Given the description of an element on the screen output the (x, y) to click on. 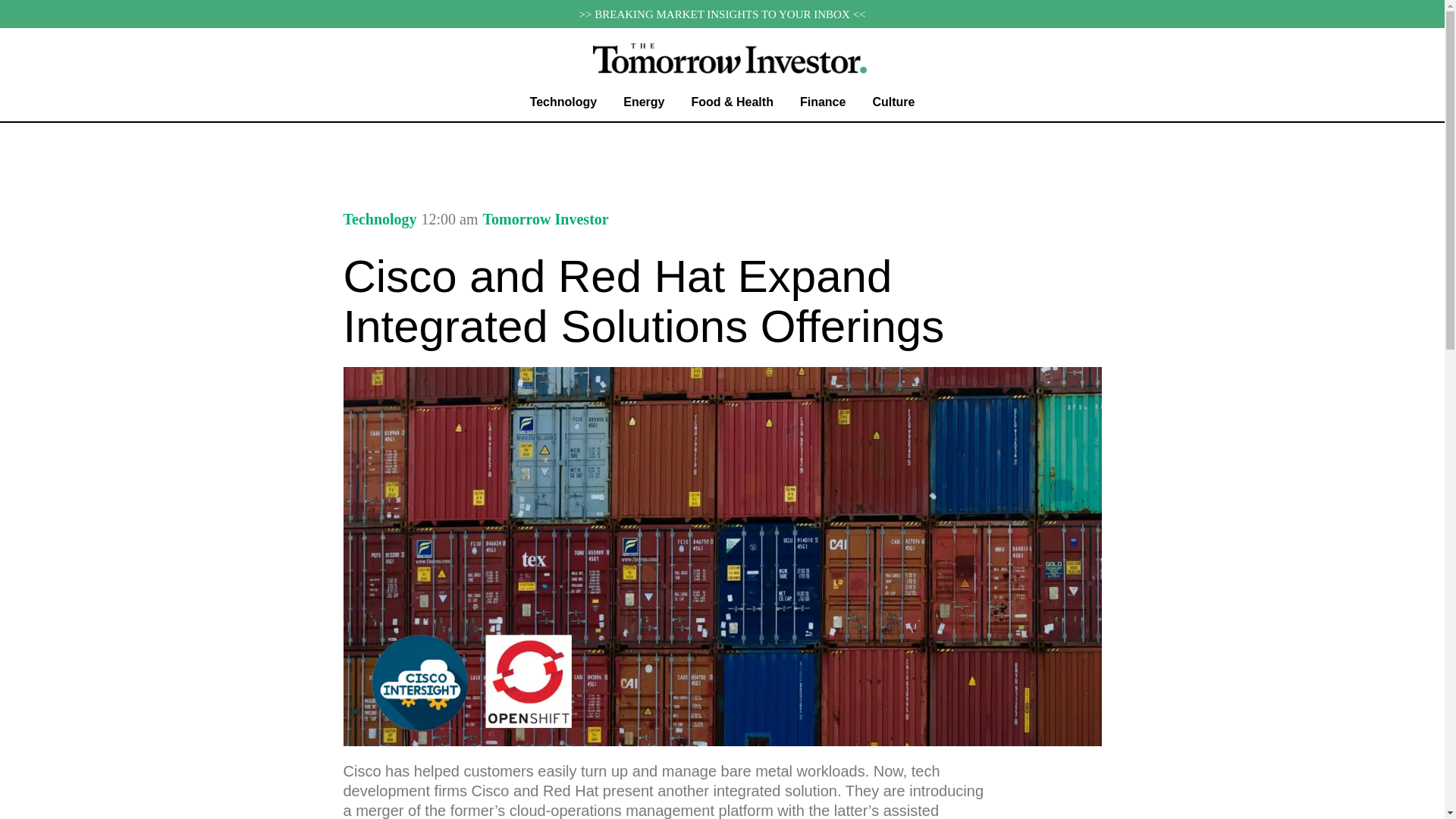
Finance (822, 102)
Technology (563, 102)
tradingview (722, 146)
Energy (644, 102)
Culture (892, 102)
Tomorrow Investor (545, 219)
Technology (379, 218)
